Given the description of an element on the screen output the (x, y) to click on. 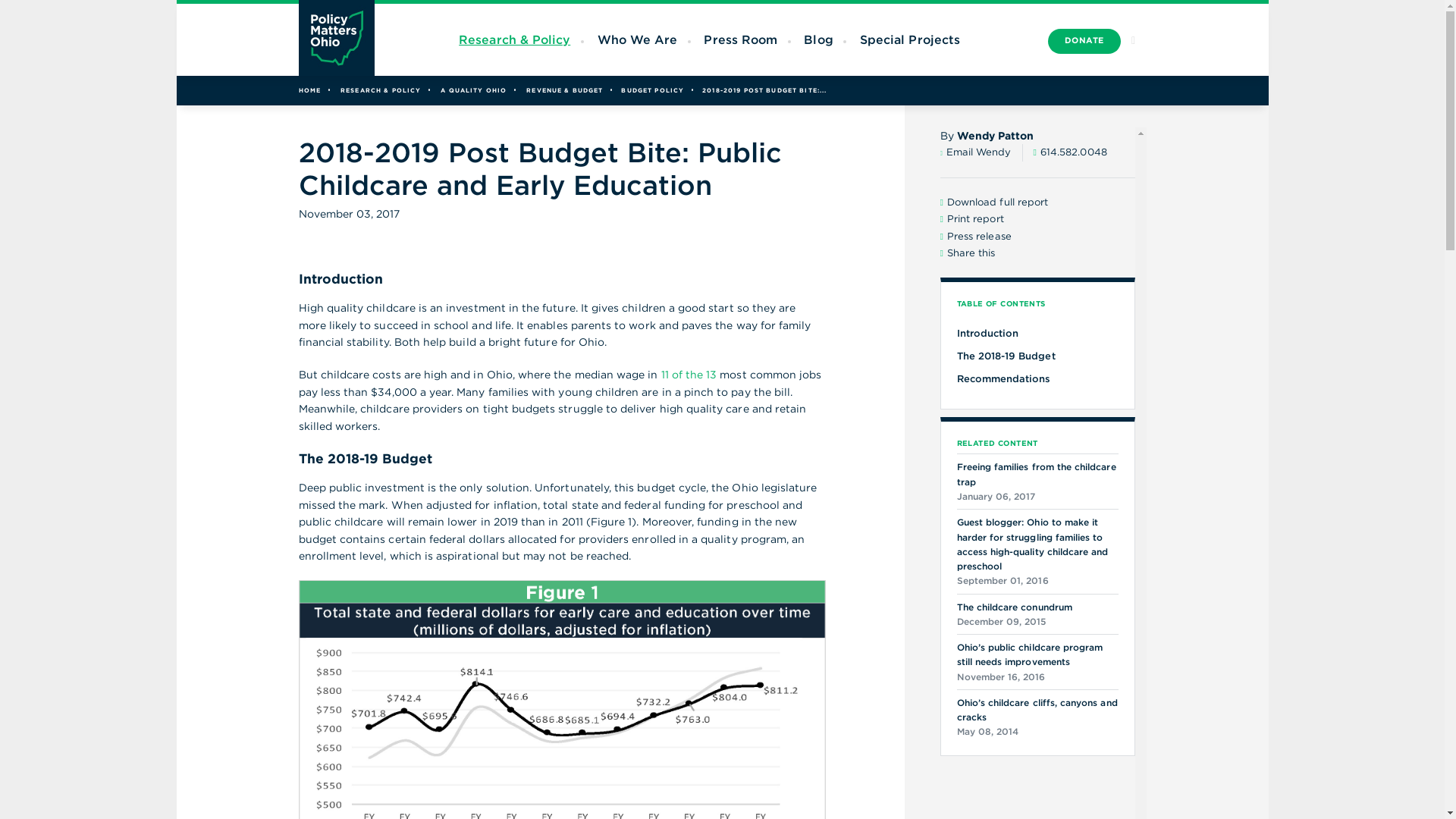
DONATE (1084, 41)
Who We Are (637, 39)
Special Projects (909, 39)
Press Room (740, 39)
Who We Are (637, 39)
Blog (817, 39)
Press Room (740, 39)
